Given the description of an element on the screen output the (x, y) to click on. 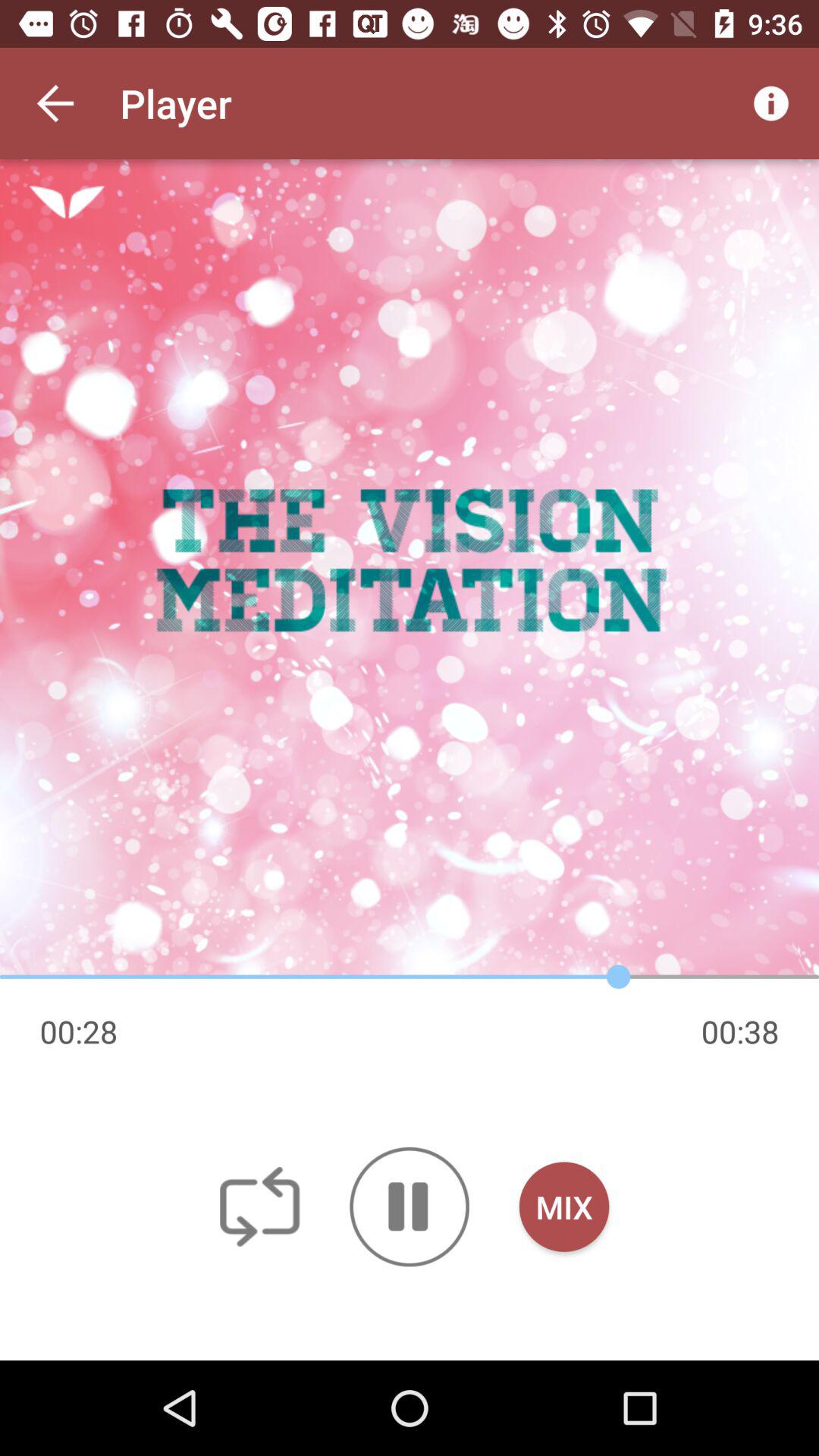
open icon to the right of player item (771, 103)
